Given the description of an element on the screen output the (x, y) to click on. 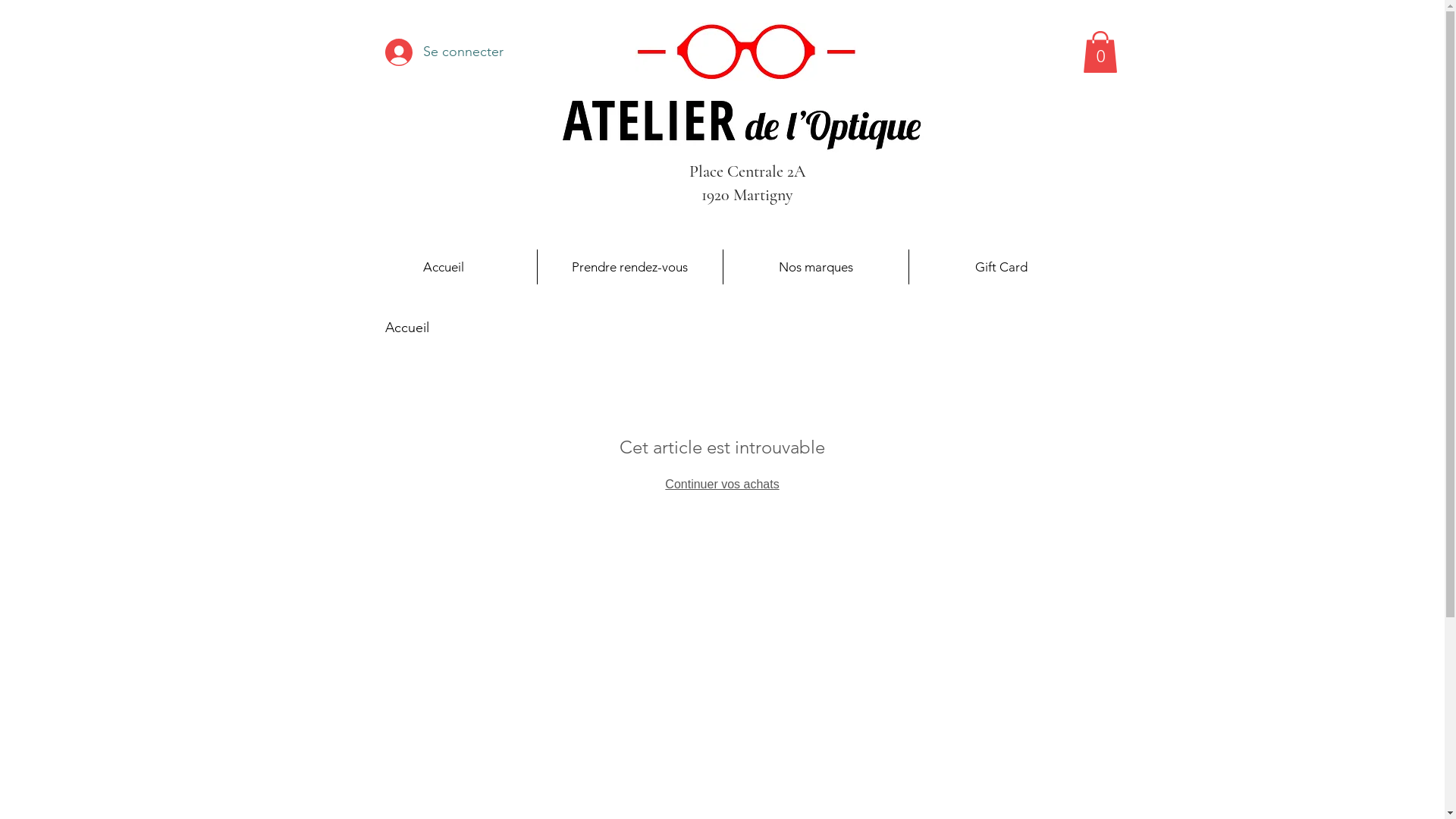
Prendre rendez-vous Element type: text (628, 266)
Nos marques Element type: text (815, 266)
Continuer vos achats Element type: text (721, 483)
Gift Card Element type: text (1000, 266)
Accueil Element type: text (407, 327)
0 Element type: text (1099, 51)
Se connecter Element type: text (409, 51)
Accueil Element type: text (443, 266)
